Given the description of an element on the screen output the (x, y) to click on. 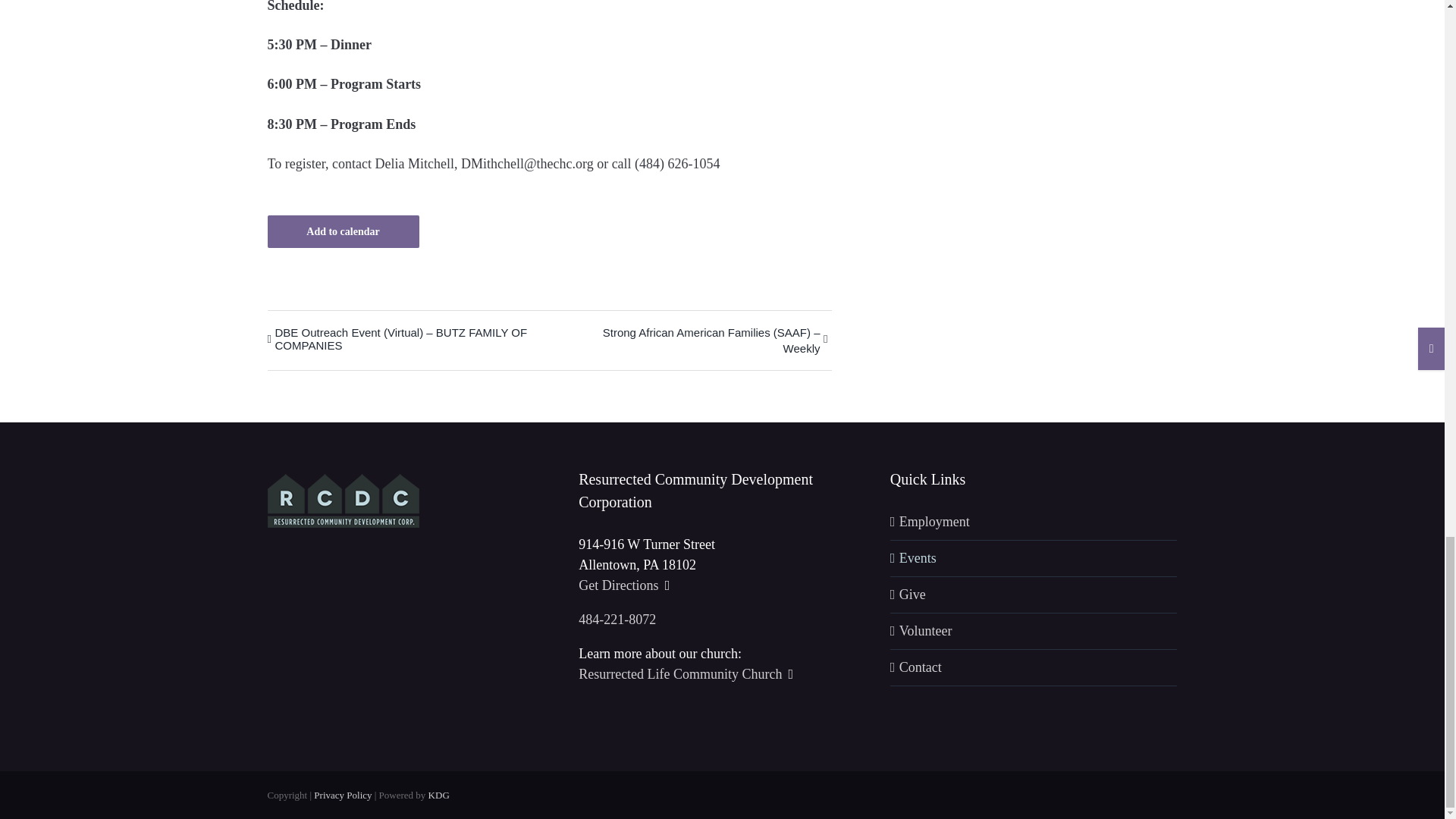
Employment (1034, 521)
Add to calendar (341, 231)
484-221-8072 (617, 619)
Resurrected Life Community Church (685, 673)
Get Directions (623, 585)
